Given the description of an element on the screen output the (x, y) to click on. 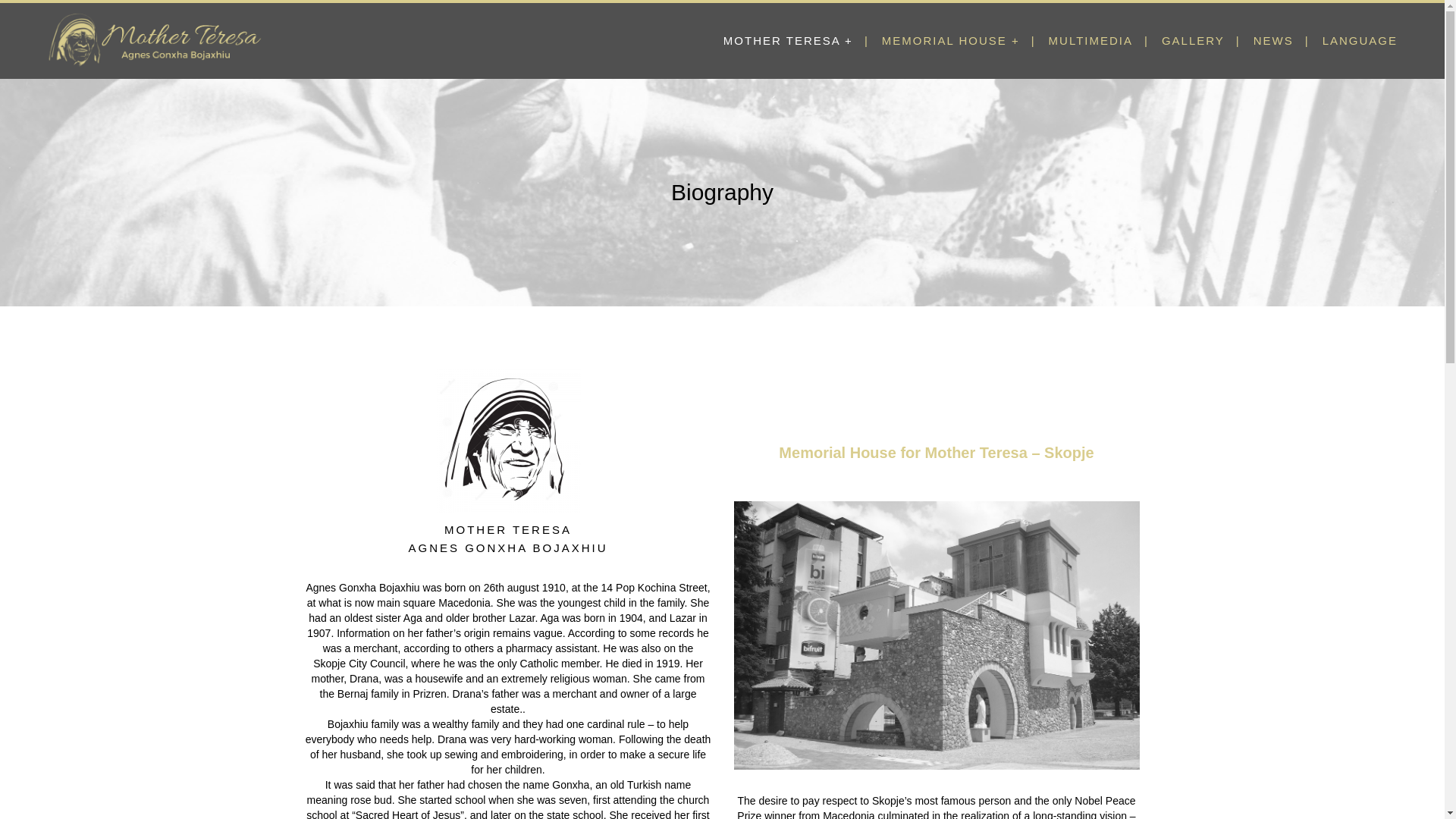
Mother-Teresa (507, 439)
GALLERY (1192, 40)
LANGUAGE (1359, 40)
MULTIMEDIA (1090, 40)
